Given the description of an element on the screen output the (x, y) to click on. 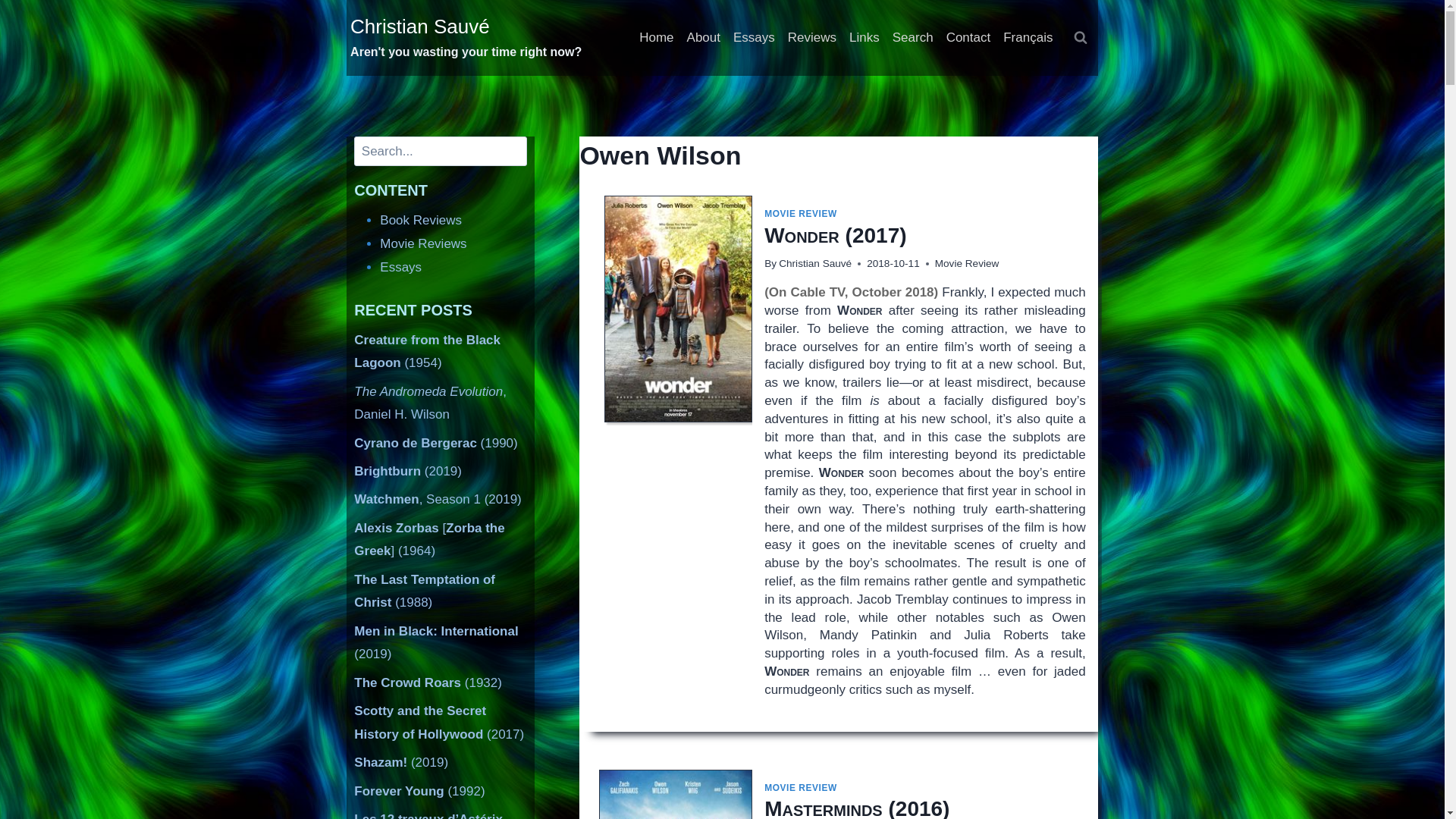
MOVIE REVIEW (800, 213)
Contact (968, 38)
Home (656, 38)
Movie Review (966, 263)
MOVIE REVIEW (800, 787)
Essays (753, 38)
Reviews (811, 38)
Search (912, 38)
About (702, 38)
Links (864, 38)
